Given the description of an element on the screen output the (x, y) to click on. 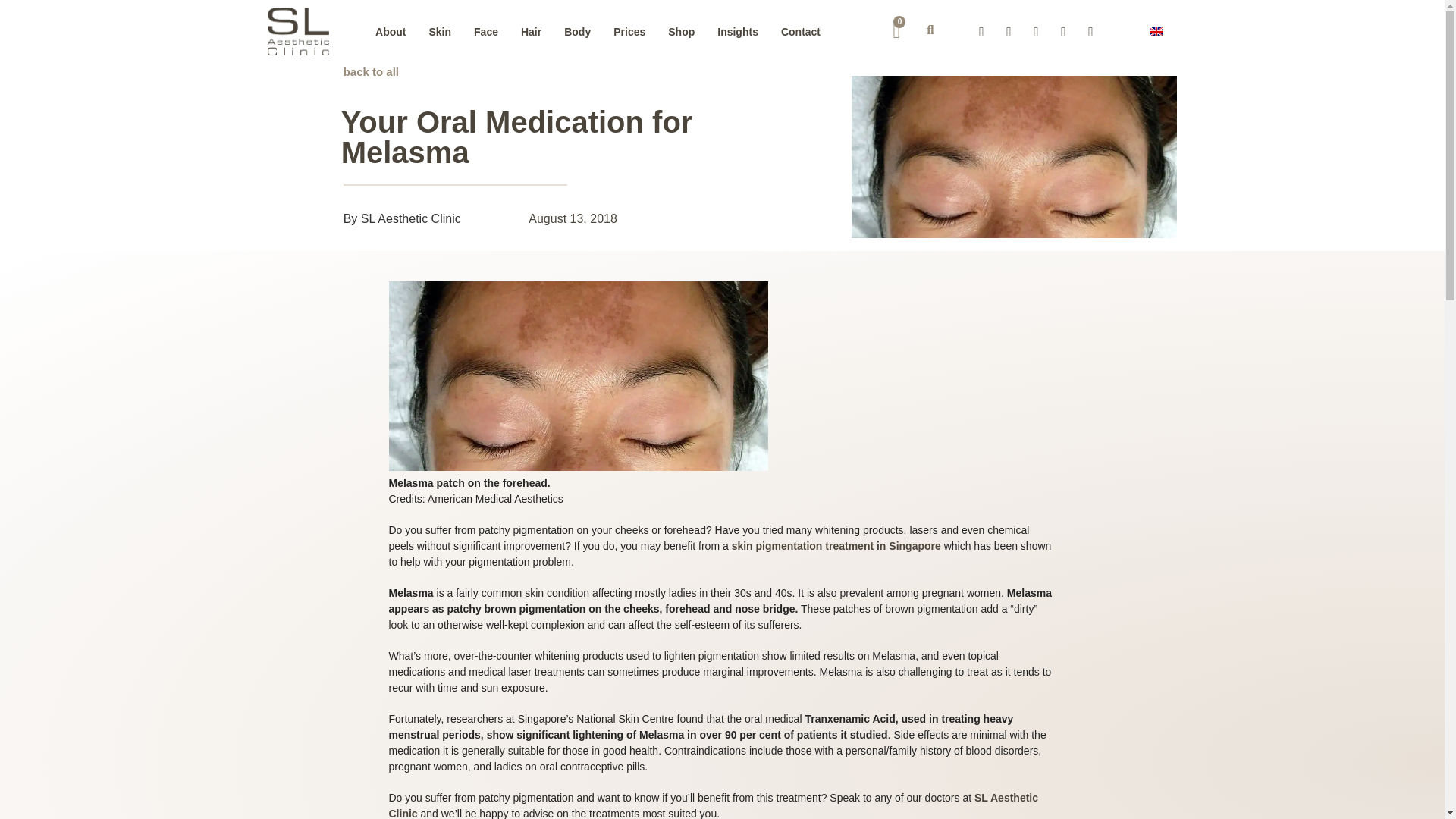
Skin (439, 24)
About (390, 6)
